Given the description of an element on the screen output the (x, y) to click on. 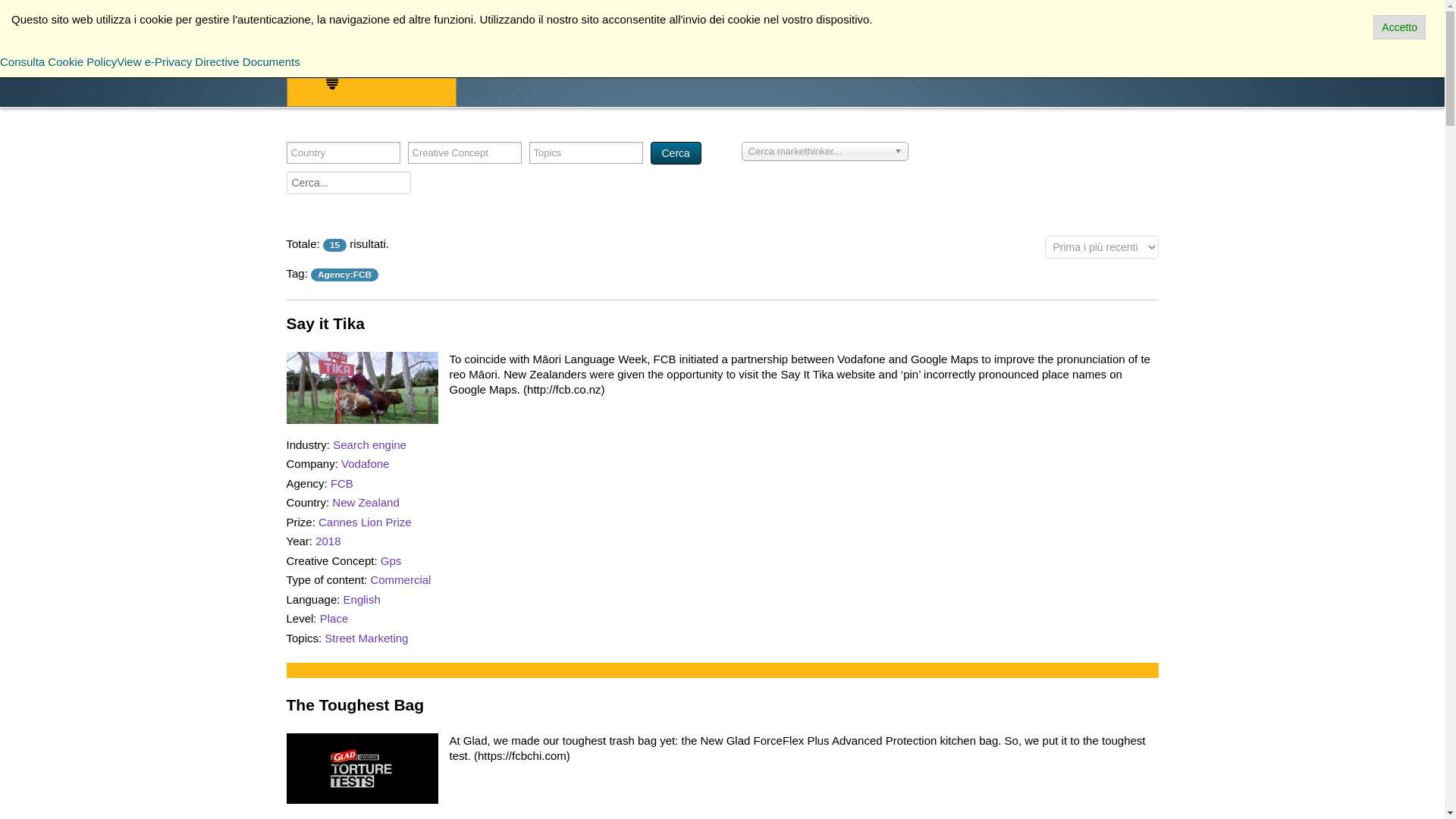
FCB (341, 481)
Markethinkers (657, 61)
English (361, 599)
Chi siamo (1024, 61)
Libro (586, 61)
Markethink Academy (840, 61)
The Toughest Bag (362, 766)
Markethink (371, 61)
Place (334, 617)
Creative Concept (459, 152)
